Given the description of an element on the screen output the (x, y) to click on. 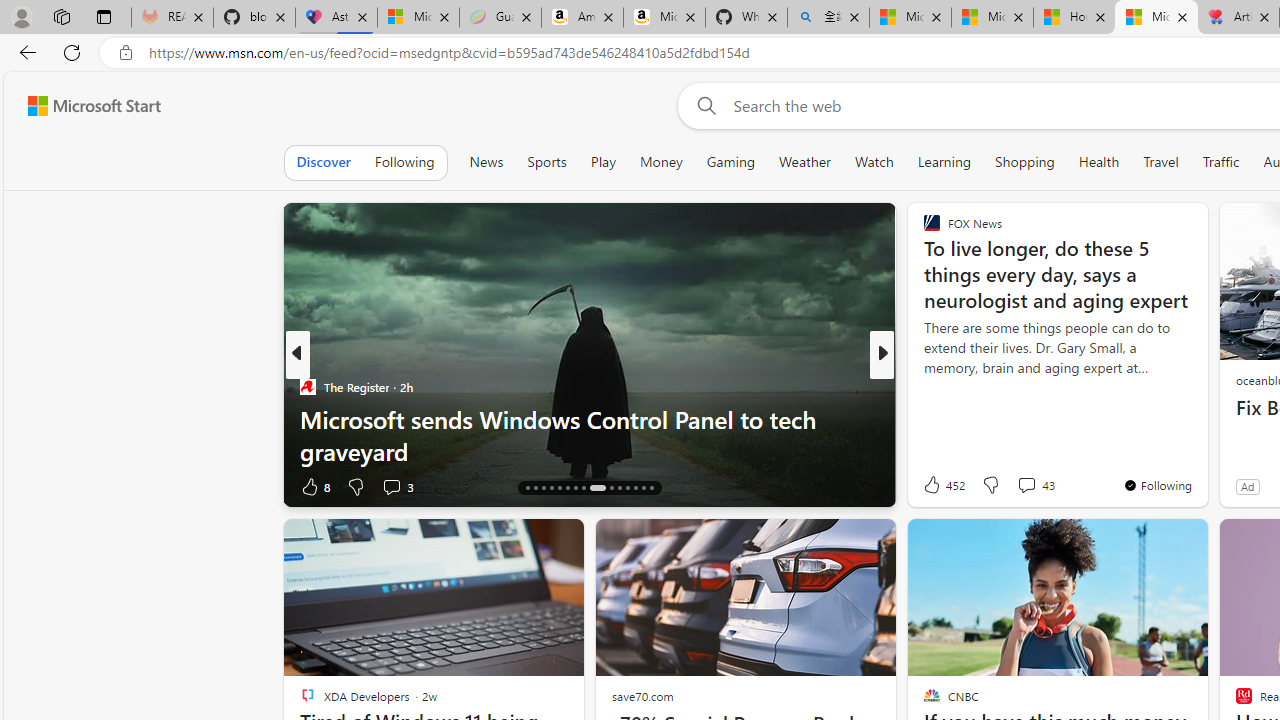
AutomationID: tab-30 (650, 487)
AutomationID: tab-21 (567, 487)
AutomationID: tab-23 (582, 487)
AutomationID: tab-29 (642, 487)
Microsoft sends Windows Control Panel to tech graveyard (589, 435)
AutomationID: tab-19 (550, 487)
